Given the description of an element on the screen output the (x, y) to click on. 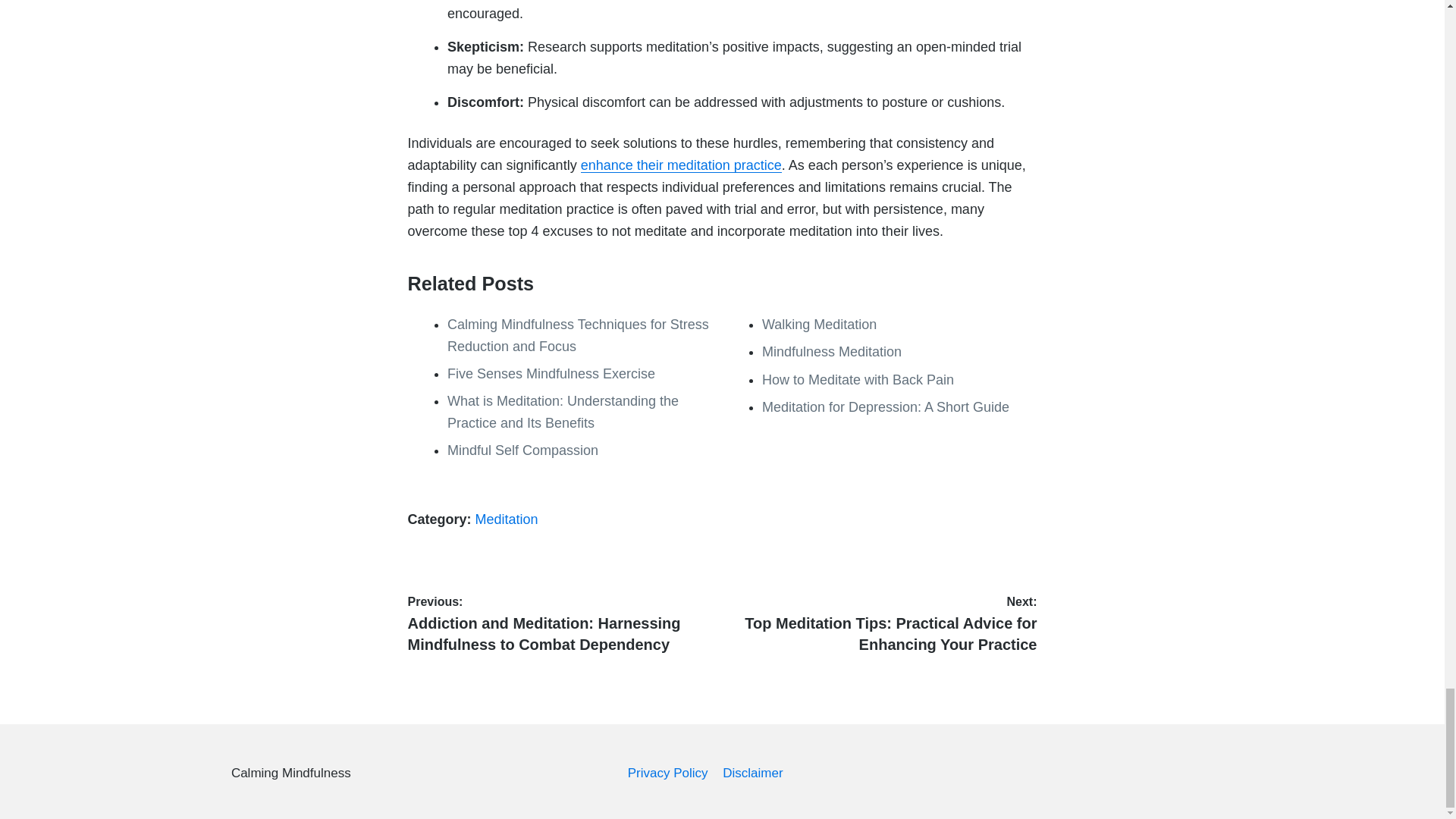
Mindfulness Meditation (831, 351)
enhance their meditation practice (680, 165)
Meditation (507, 519)
Privacy Policy (667, 772)
Disclaimer (752, 772)
Mindful Self Compassion (522, 450)
Meditation for Depression: A Short Guide (885, 406)
How to Meditate with Back Pain (857, 379)
